Given the description of an element on the screen output the (x, y) to click on. 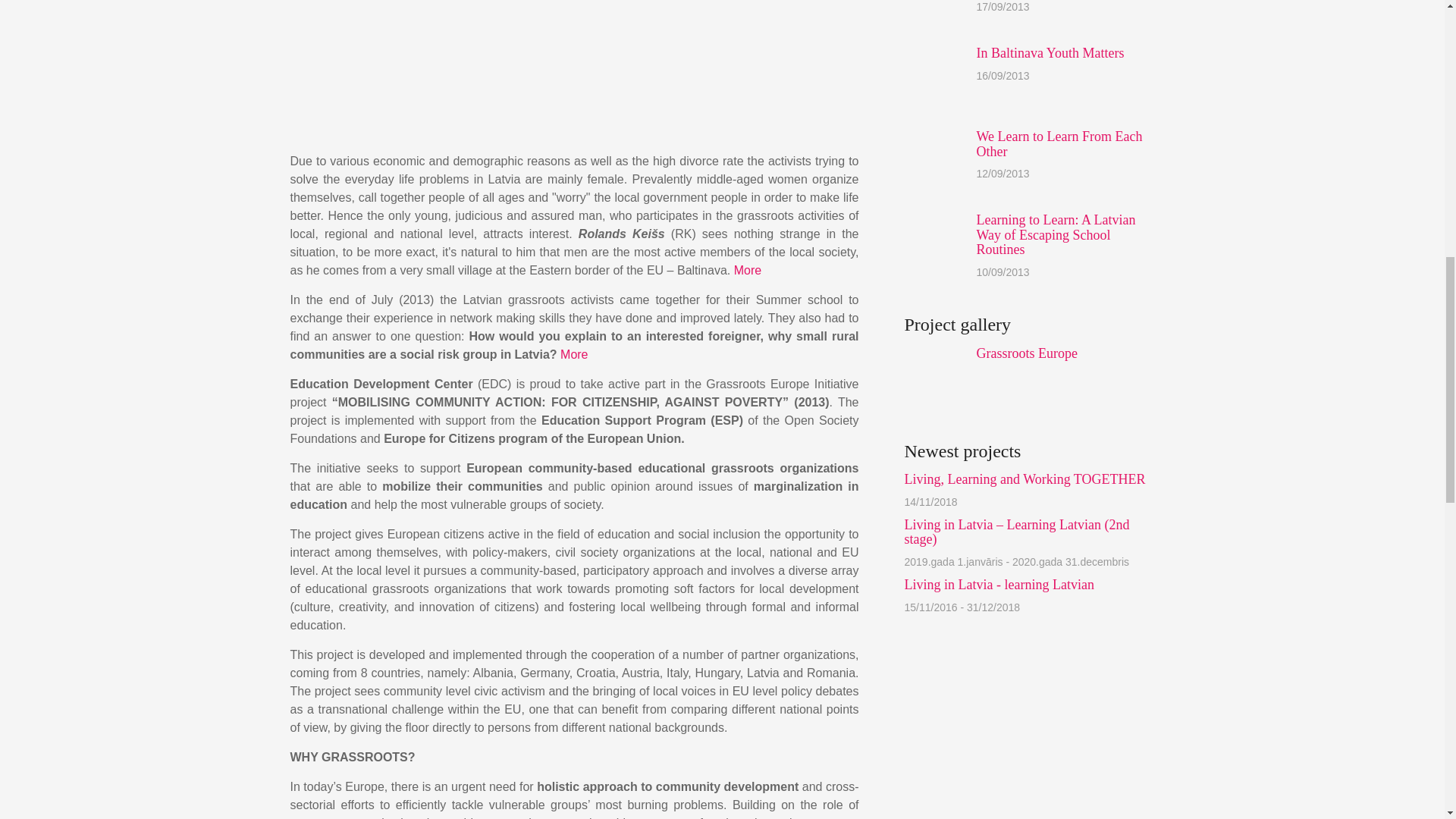
More (574, 354)
We Learn to Learn From Each Other (1059, 143)
More (747, 269)
Living, Learning and Working TOGETHER (1024, 478)
Grassroots Europe (1026, 353)
In Baltinava Youth Matters (1050, 52)
Living in Latvia - learning Latvian (998, 584)
Learning to Learn: A Latvian Way of Escaping School Routines (1055, 234)
